Given the description of an element on the screen output the (x, y) to click on. 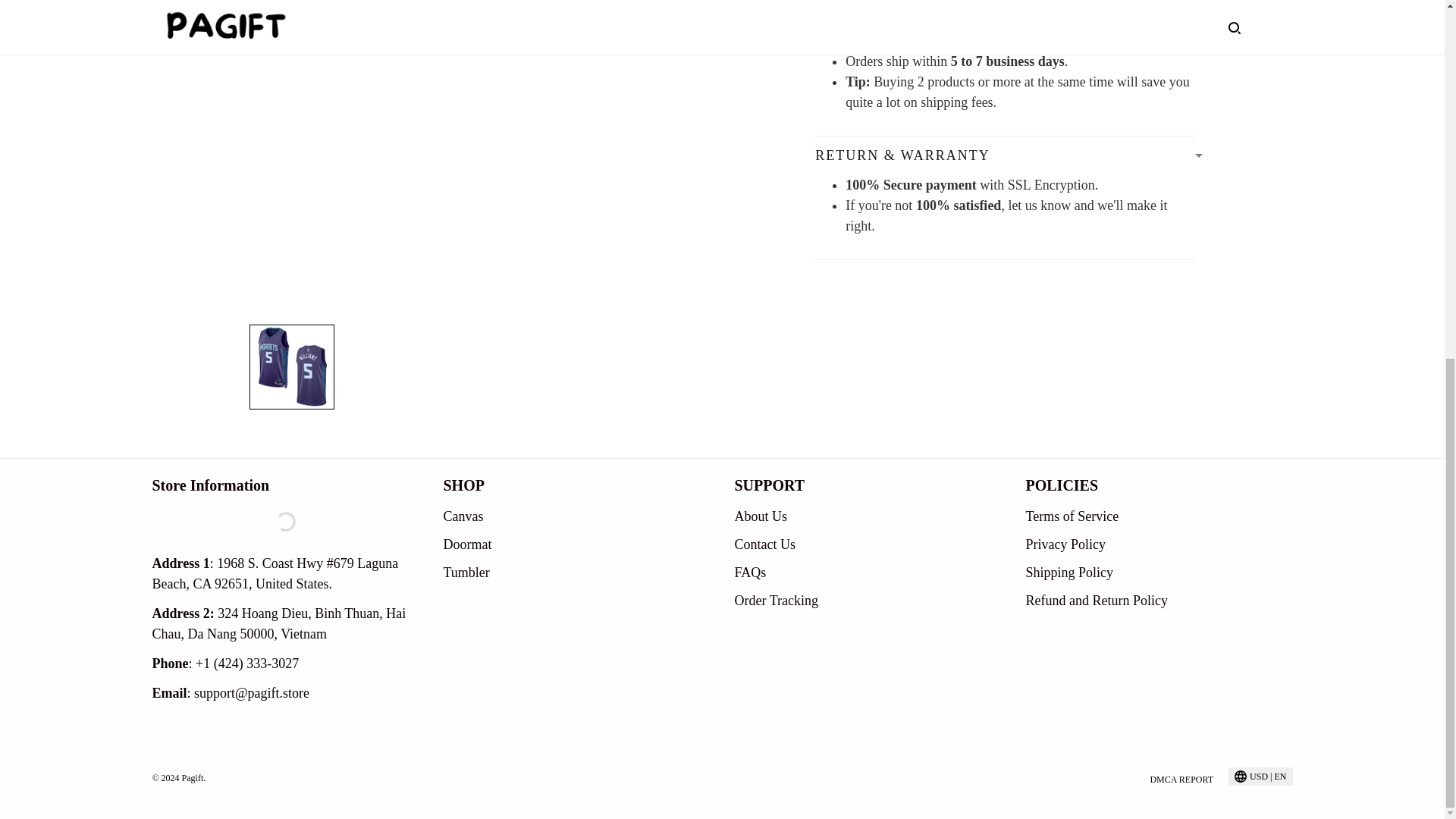
Privacy Policy (1065, 544)
FAQs (749, 572)
Doormat (467, 544)
Order Tracking (775, 600)
Tumbler (465, 572)
Contact Us (763, 544)
Canvas (462, 516)
Refund and Return Policy (1096, 600)
About Us (760, 516)
DMCA REPORT (1181, 778)
Terms of Service (1071, 516)
Shipping Policy (1069, 572)
